Given the description of an element on the screen output the (x, y) to click on. 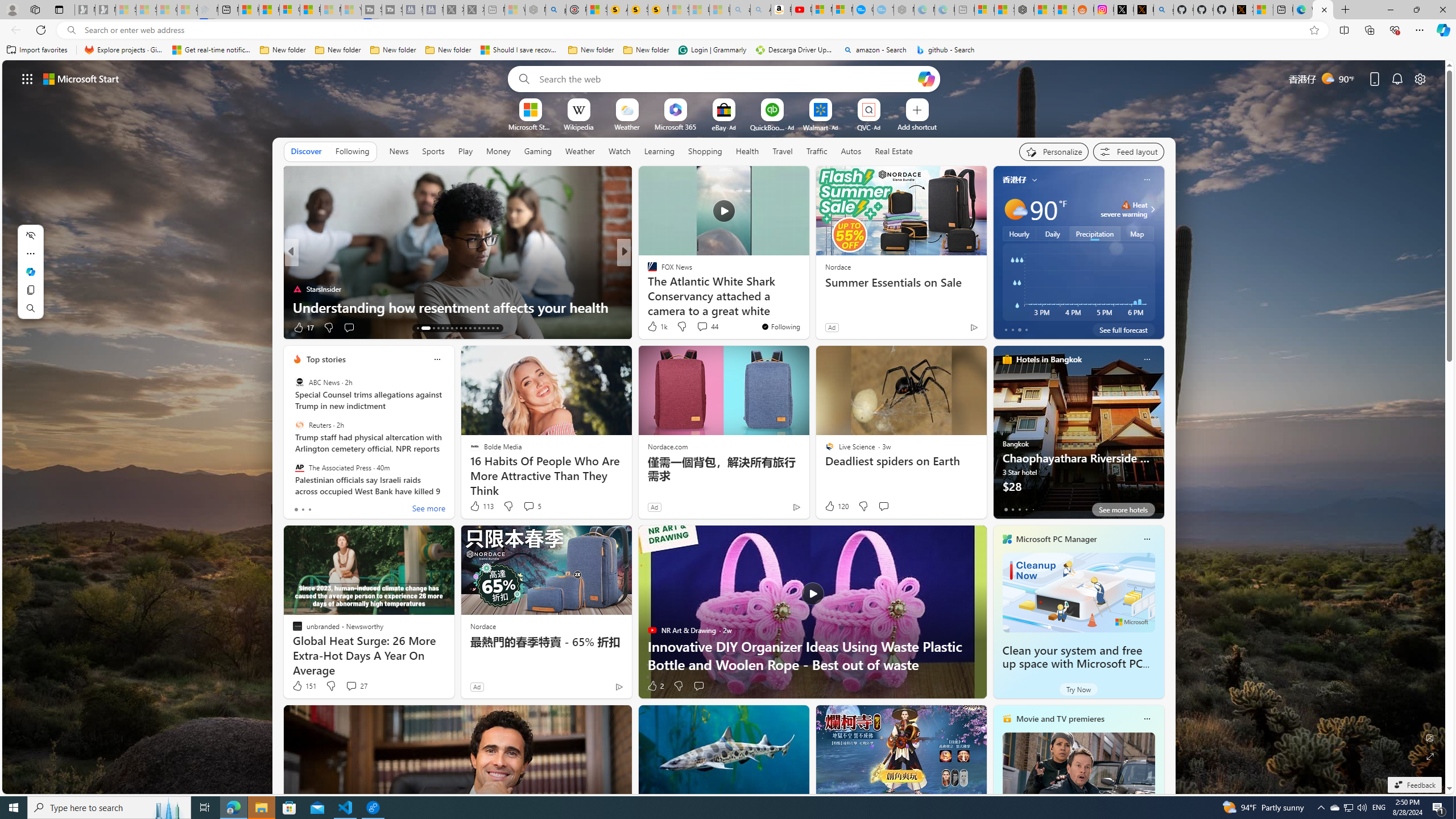
tab-2 (1019, 509)
Reuters (299, 424)
Watch (619, 151)
Forge of Empires (668, 288)
Edit Background (1430, 737)
120 Like (835, 505)
X Privacy Policy (1242, 9)
tab-3 (1025, 509)
